Given the description of an element on the screen output the (x, y) to click on. 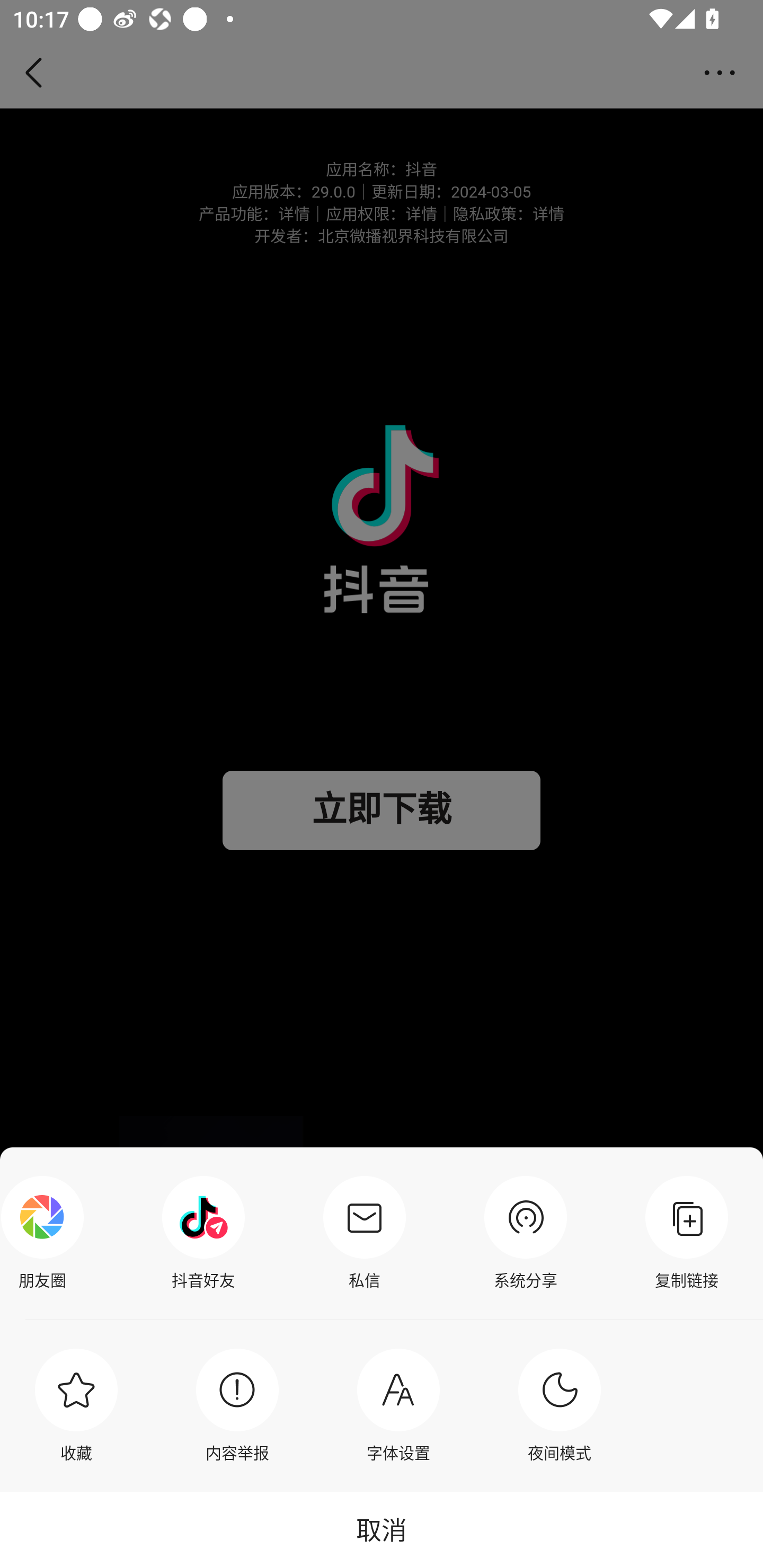
朋友圈 (46, 1232)
抖音好友 (203, 1232)
私信 (364, 1232)
系统分享 (525, 1232)
复制链接 (686, 1232)
收藏 (76, 1405)
内容举报 (237, 1405)
字体设置 (398, 1405)
夜间模式 (559, 1405)
取消 (381, 1529)
